Given the description of an element on the screen output the (x, y) to click on. 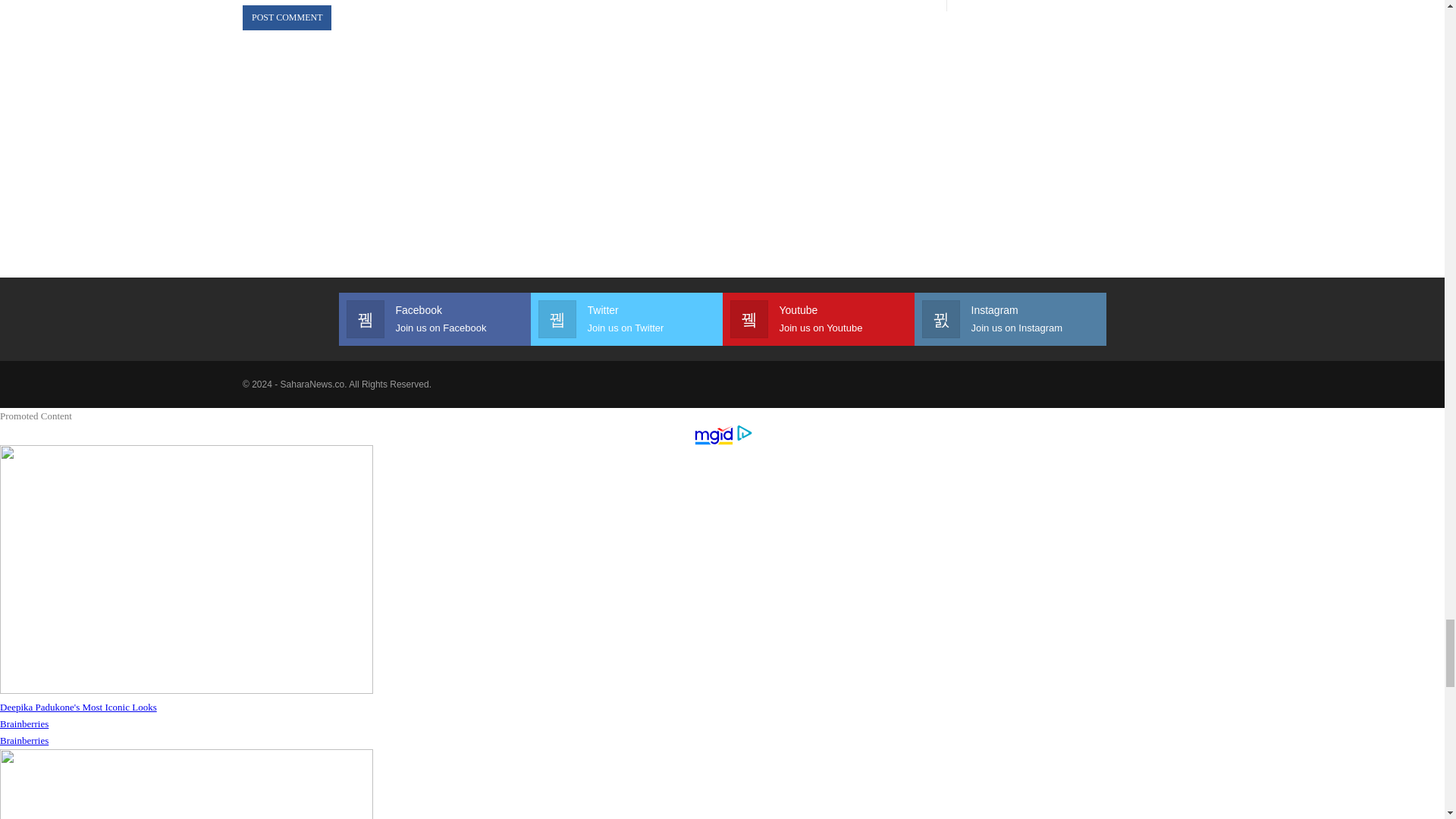
Post Comment (287, 17)
